Given the description of an element on the screen output the (x, y) to click on. 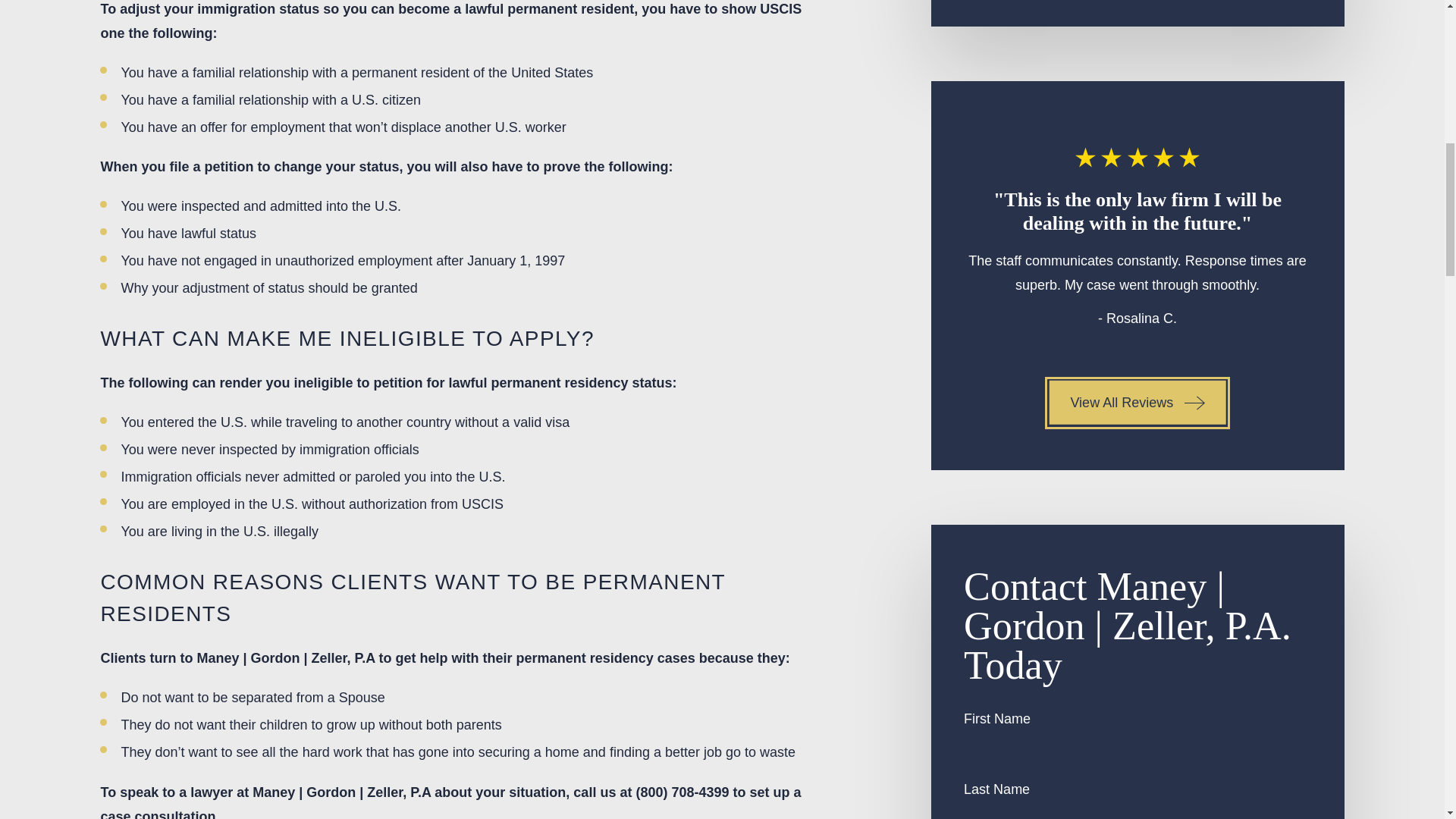
5 Star Rating (1137, 157)
